Given the description of an element on the screen output the (x, y) to click on. 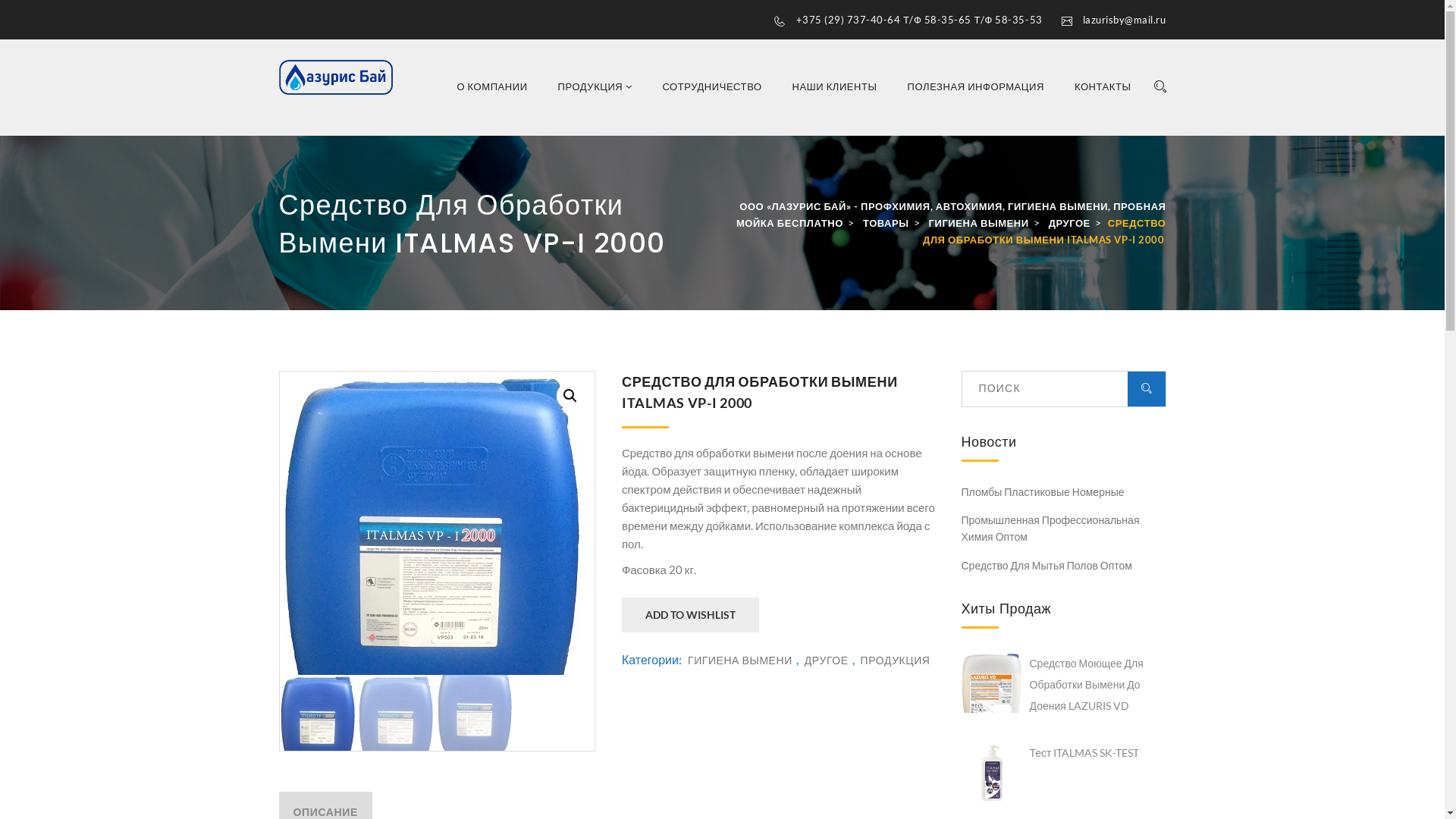
Search Element type: hover (1156, 86)
lazurisby@mail.ru Element type: text (1124, 19)
italmas-vp--i-2000-_ Element type: hover (430, 522)
ADD TO WISHLIST Element type: text (690, 614)
